Given the description of an element on the screen output the (x, y) to click on. 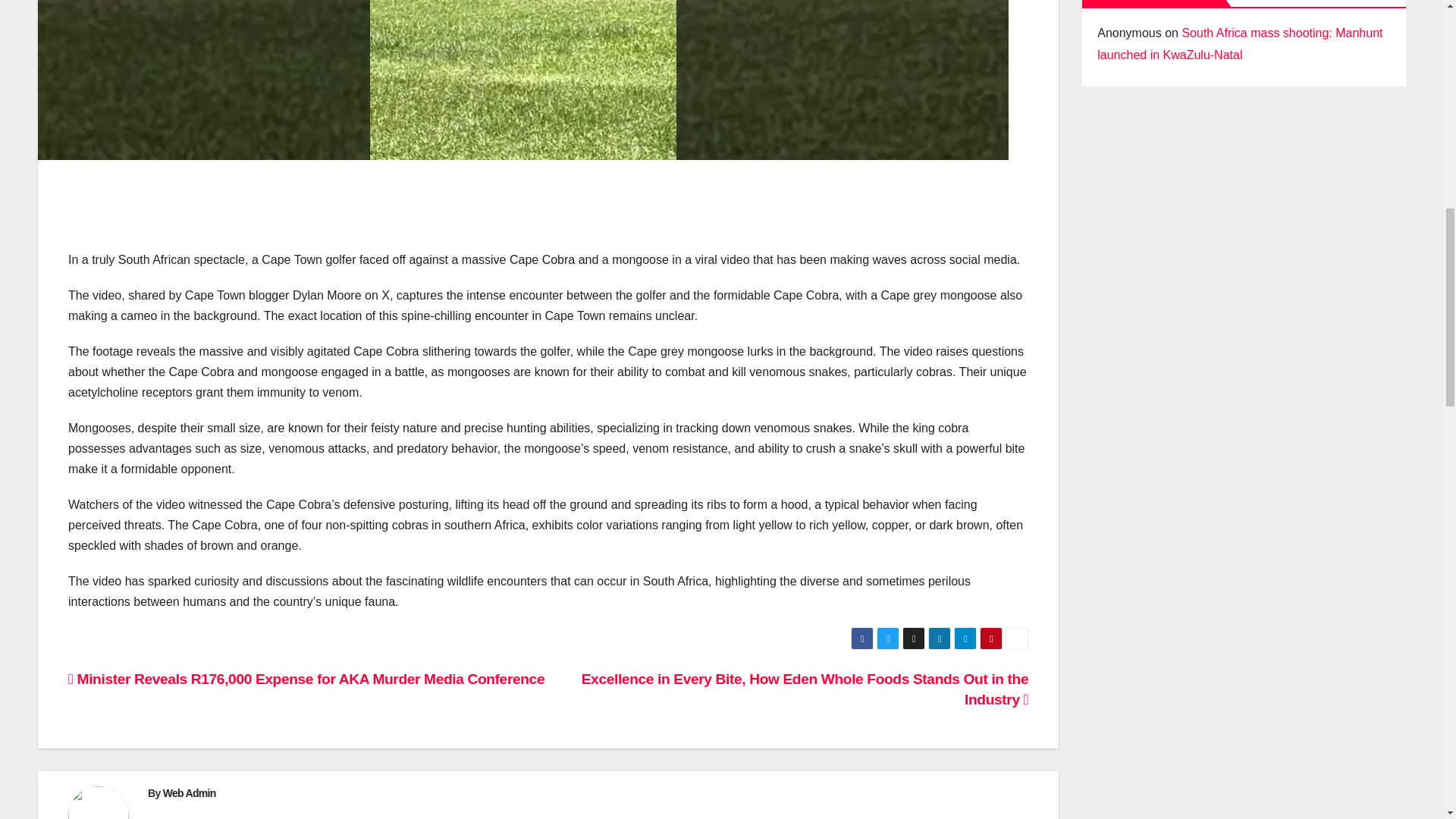
Web Admin (189, 793)
